Given the description of an element on the screen output the (x, y) to click on. 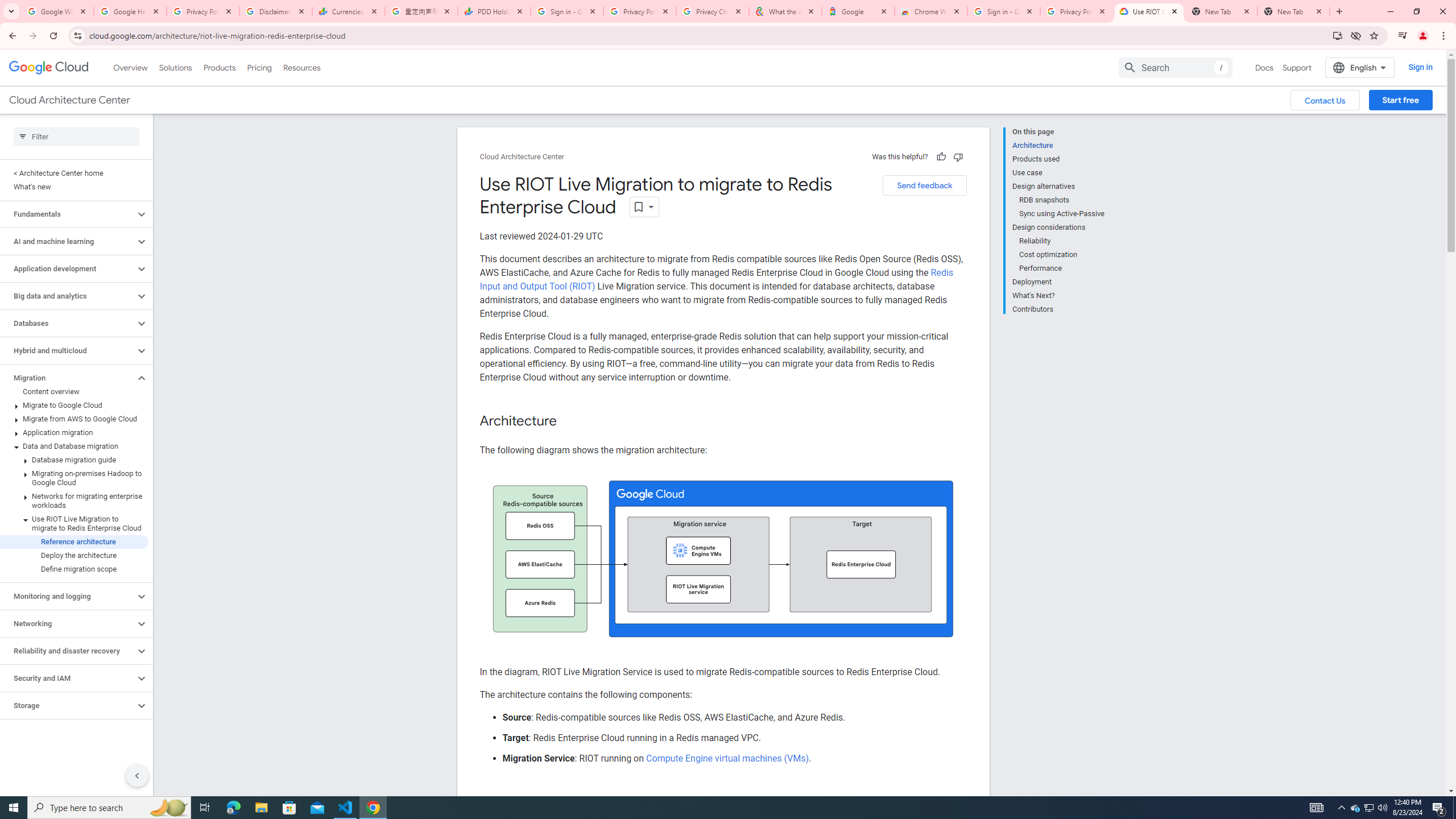
Data and Database migration (74, 445)
Privacy Checkup (712, 11)
PDD Holdings Inc - ADR (PDD) Price & News - Google Finance (493, 11)
Chrome Web Store - Color themes by Chrome (930, 11)
Fundamentals (67, 214)
Storage (67, 705)
Define migration scope (74, 568)
Big data and analytics (67, 296)
